Given the description of an element on the screen output the (x, y) to click on. 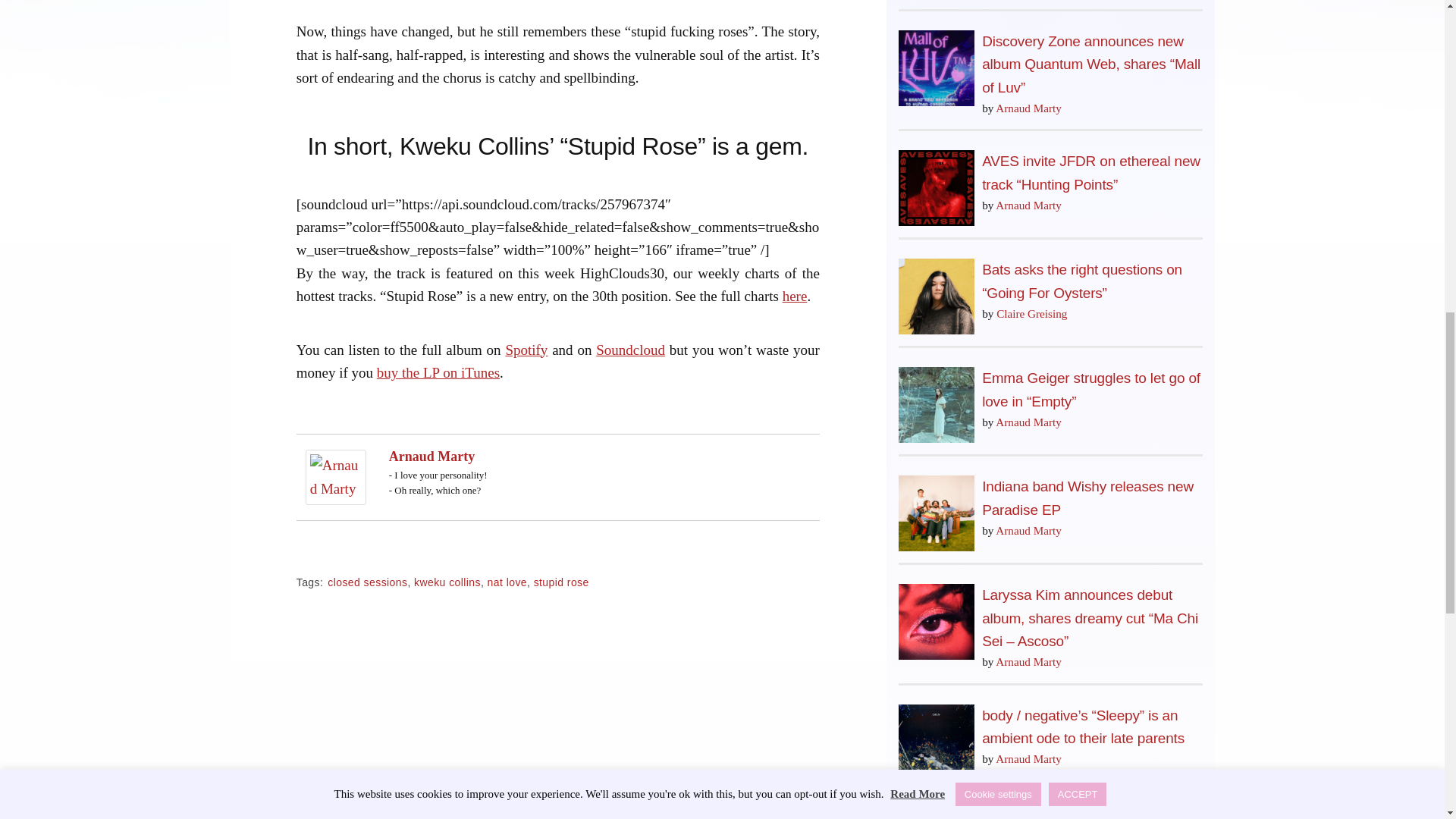
Arnaud Marty (335, 475)
here (795, 295)
kweku collins (446, 582)
Soundcloud (630, 349)
buy the LP on iTunes (438, 372)
closed sessions (367, 582)
Arnaud Marty (432, 456)
Spotify (526, 349)
